Given the description of an element on the screen output the (x, y) to click on. 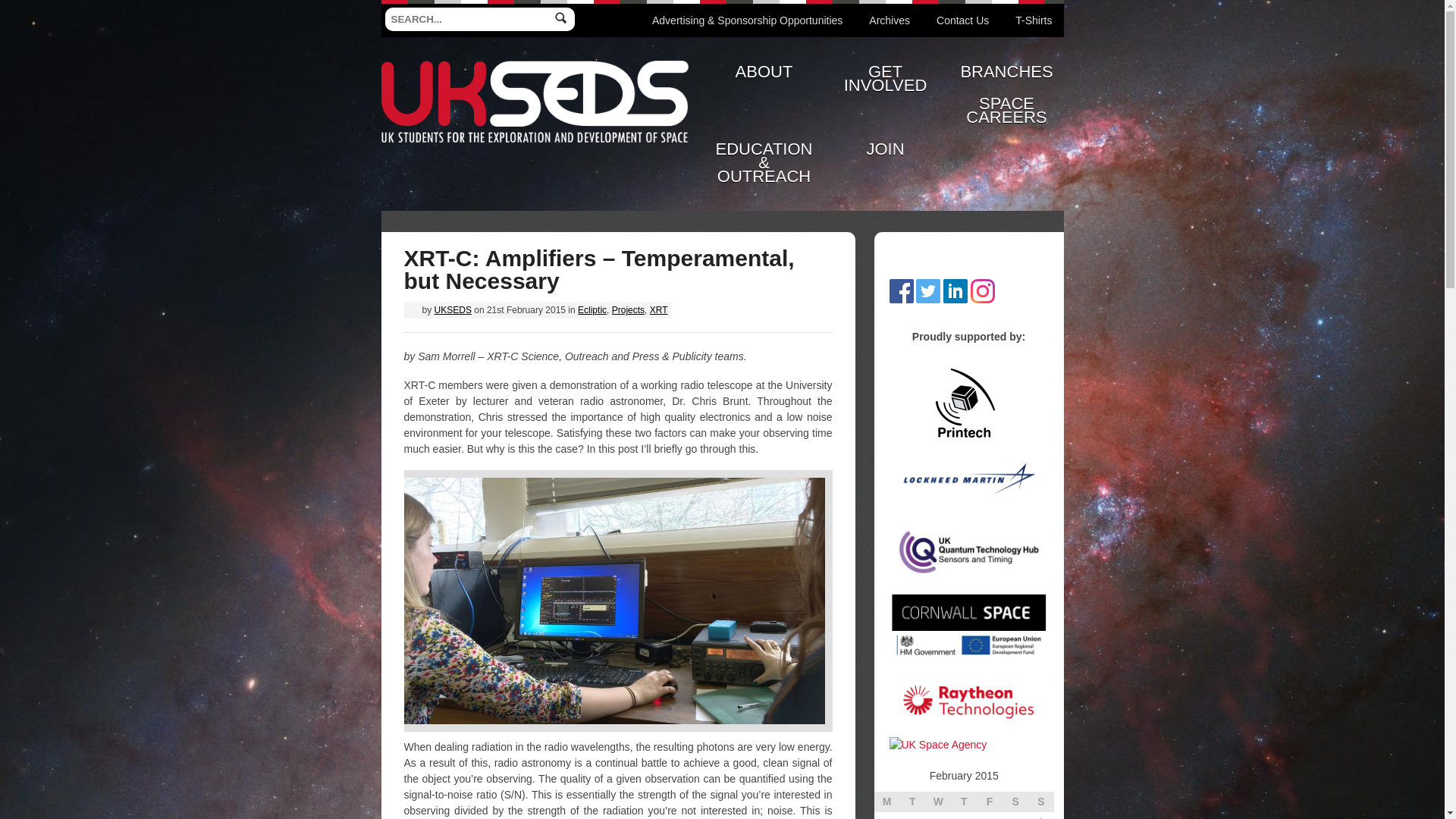
LinkedIn (955, 286)
ABOUT (763, 71)
Ecliptic (592, 309)
BRANCHES (1005, 71)
Lockheed Martin (968, 478)
UK Quantum Technology Hub for Sensors and Timing (968, 551)
Printech (964, 404)
Wednesday (937, 801)
Projects (628, 309)
Monday (886, 801)
XRT (658, 309)
GET INVOLVED (885, 78)
Facebook (900, 286)
Twitter (927, 286)
Archives (889, 20)
